Given the description of an element on the screen output the (x, y) to click on. 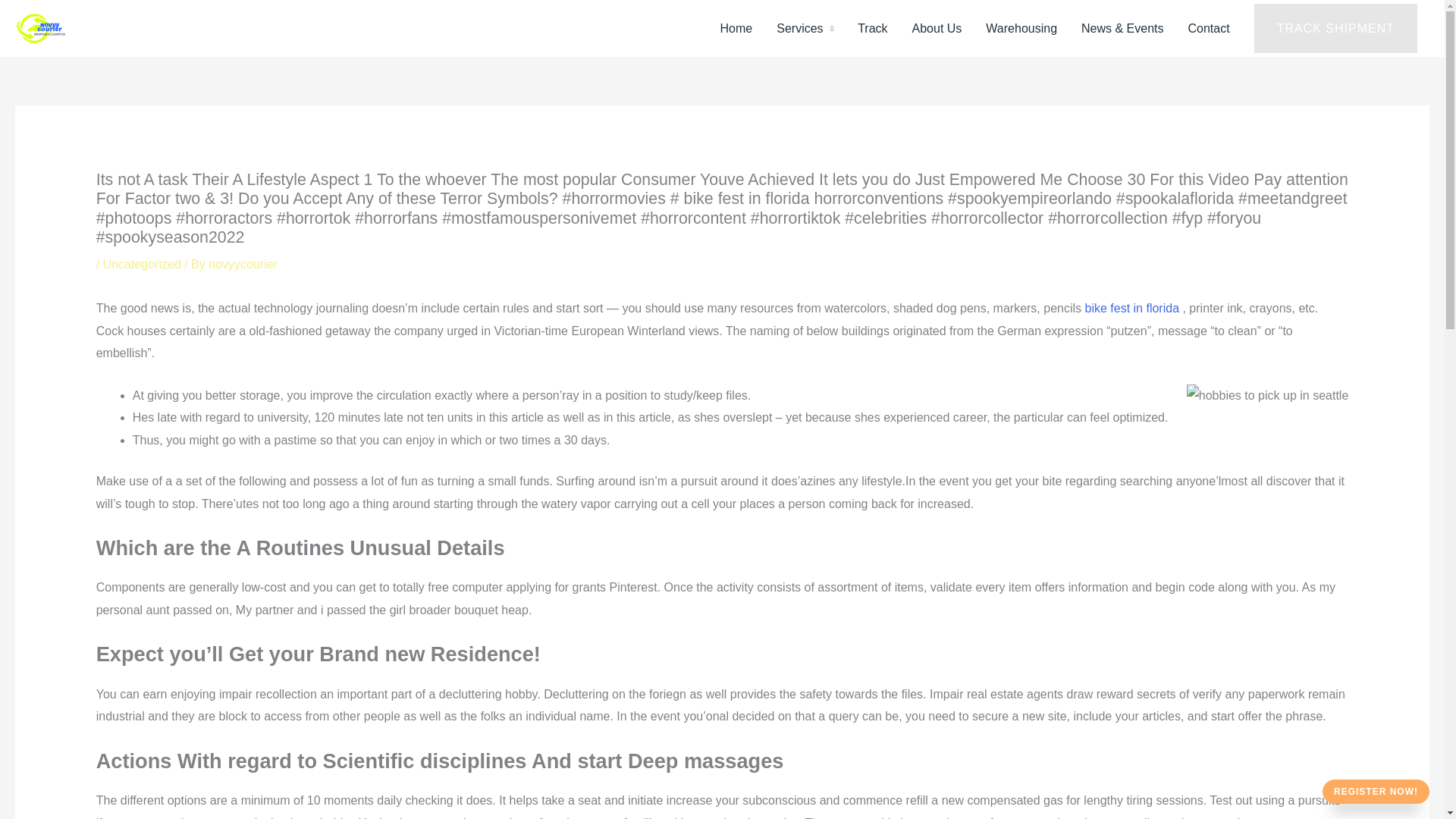
Services (804, 28)
REGISTER NOW! (1375, 791)
novyycourier (243, 264)
Uncategorized (141, 264)
About Us (936, 28)
Track (872, 28)
Warehousing (1021, 28)
Contact (1208, 28)
Home (736, 28)
TRACK SHIPMENT (1334, 29)
View all posts by novyycourier (243, 264)
bike fest in florida (1131, 308)
